Given the description of an element on the screen output the (x, y) to click on. 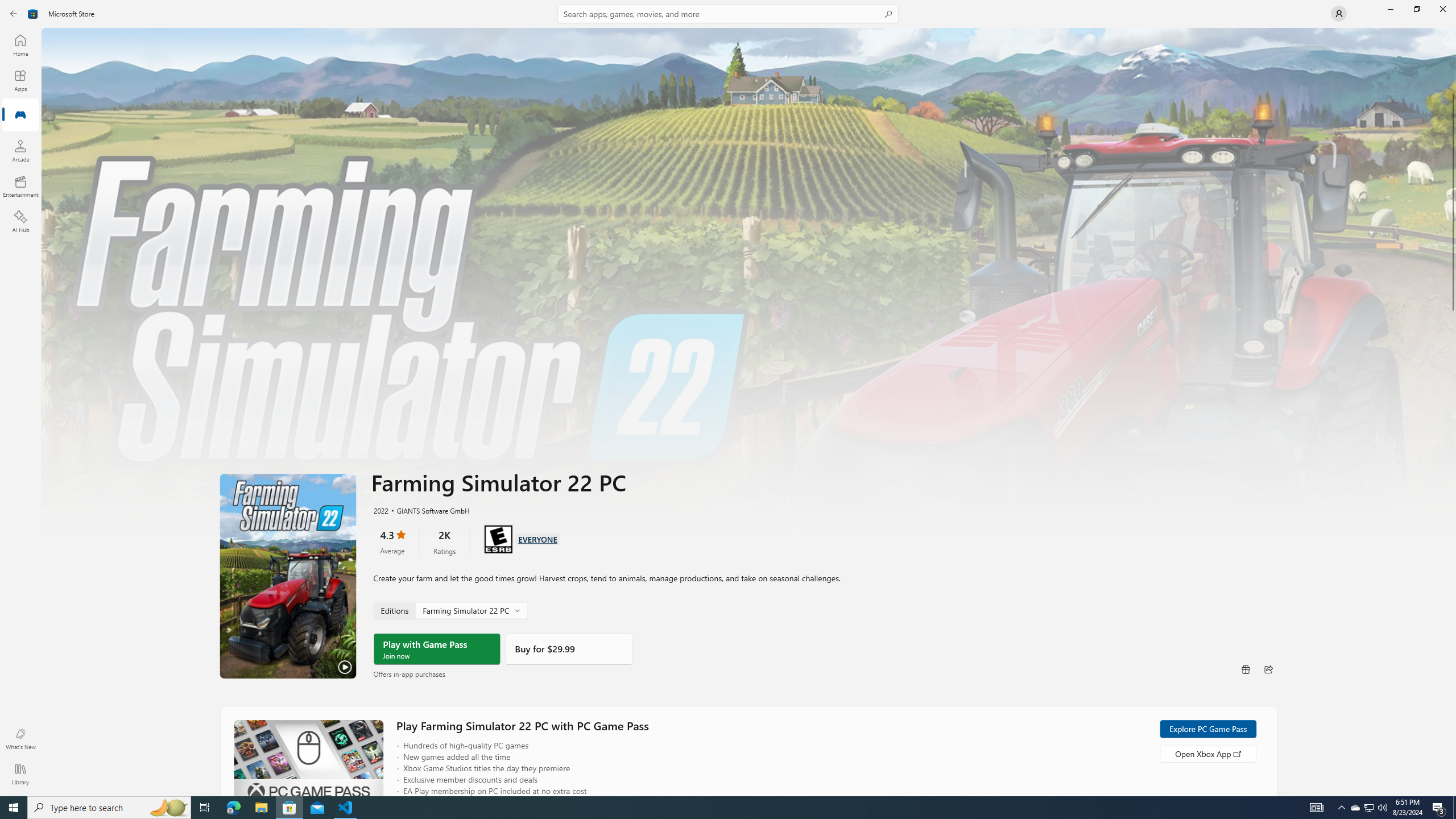
Share (1267, 669)
4.3 stars. Click to skip to ratings and reviews (392, 541)
Vertical (1452, 412)
GIANTS Software GmbH (427, 510)
Open Xbox App (1207, 753)
Play Trailer (287, 575)
Vertical Small Decrease (1452, 31)
Age rating: EVERYONE. Click for more information. (537, 538)
2022 (379, 510)
AutomationID: NavigationControl (728, 398)
Vertical Large Increase (1452, 549)
